Given the description of an element on the screen output the (x, y) to click on. 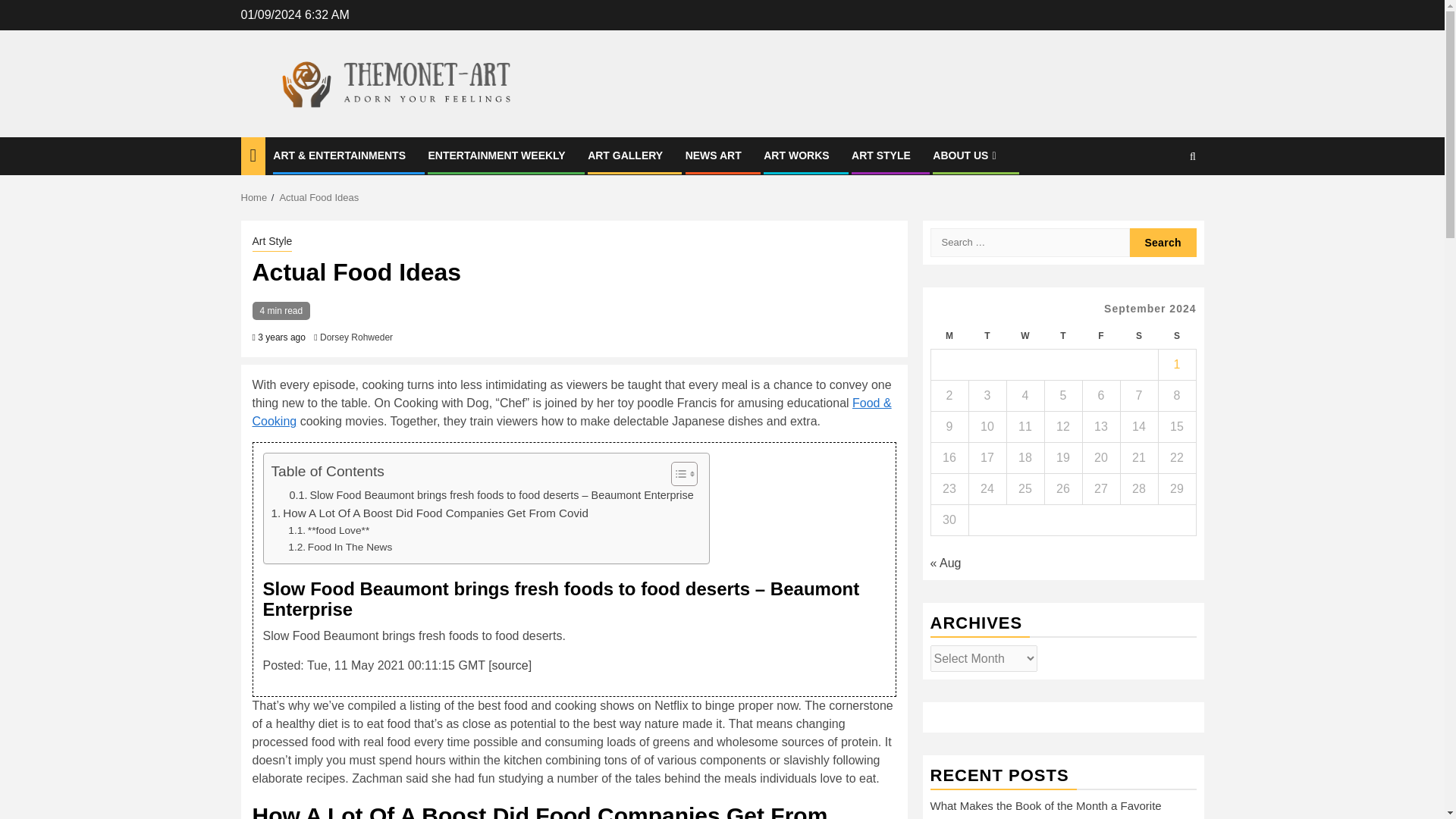
Monday (949, 335)
Food In The News (339, 547)
Dorsey Rohweder (356, 337)
Search (1162, 242)
ART GALLERY (625, 155)
Home (254, 197)
Sunday (1176, 335)
Art Style (271, 242)
Food In The News (339, 547)
ABOUT US (965, 155)
